Given the description of an element on the screen output the (x, y) to click on. 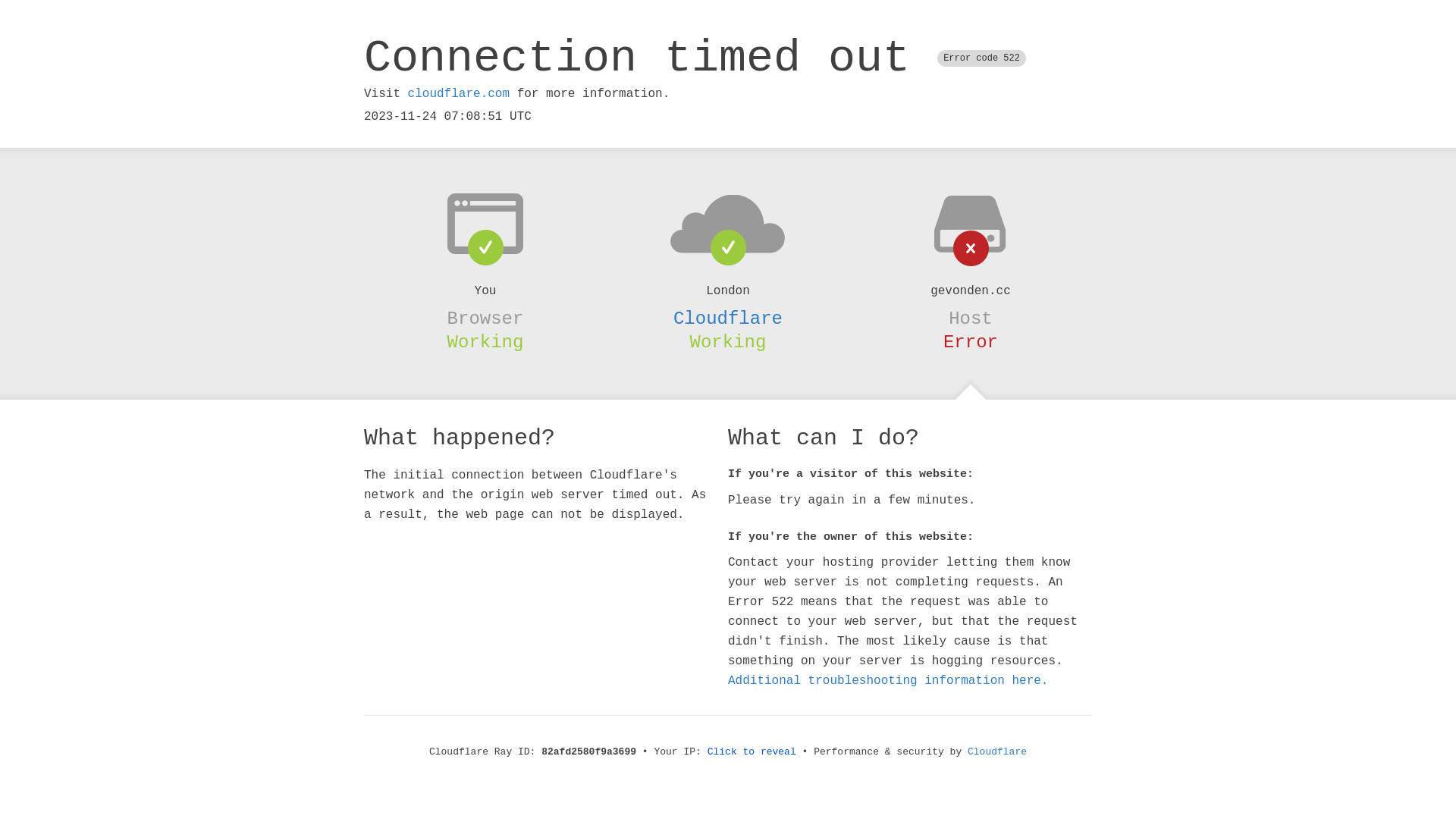
Click to reveal Element type: text (751, 751)
Cloudflare Element type: text (727, 318)
Cloudflare Element type: text (996, 751)
Additional troubleshooting information here. Element type: text (888, 680)
cloudflare.com Element type: text (458, 93)
